Given the description of an element on the screen output the (x, y) to click on. 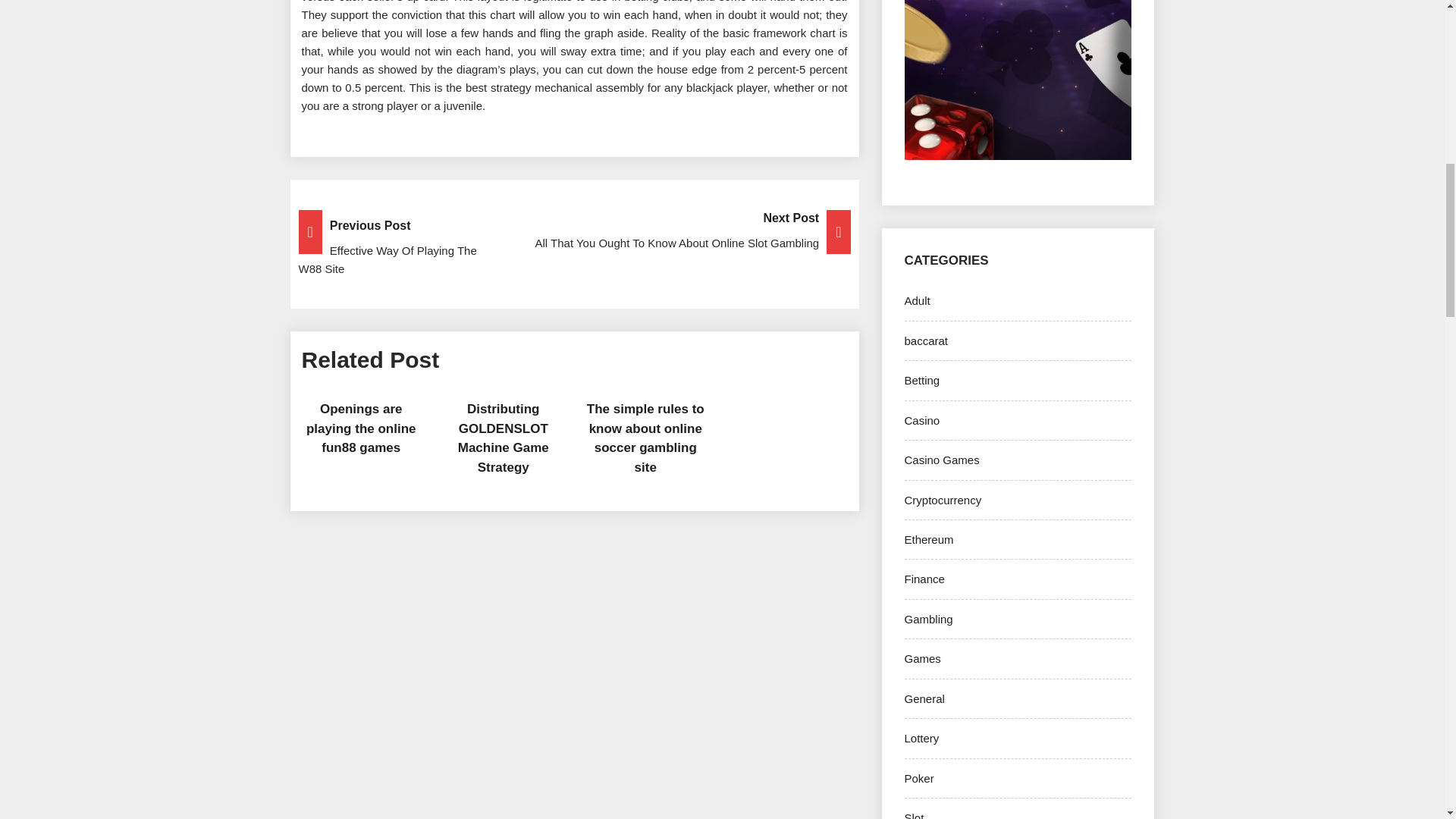
Gambling (928, 618)
General (923, 698)
Finance (923, 578)
Slot (913, 815)
Distributing GOLDENSLOT Machine Game Strategy (503, 438)
Ethereum (928, 539)
Games (922, 658)
Openings are playing the online fun88 games (360, 428)
Betting (921, 379)
The simple rules to know about online soccer gambling site (645, 438)
